Given the description of an element on the screen output the (x, y) to click on. 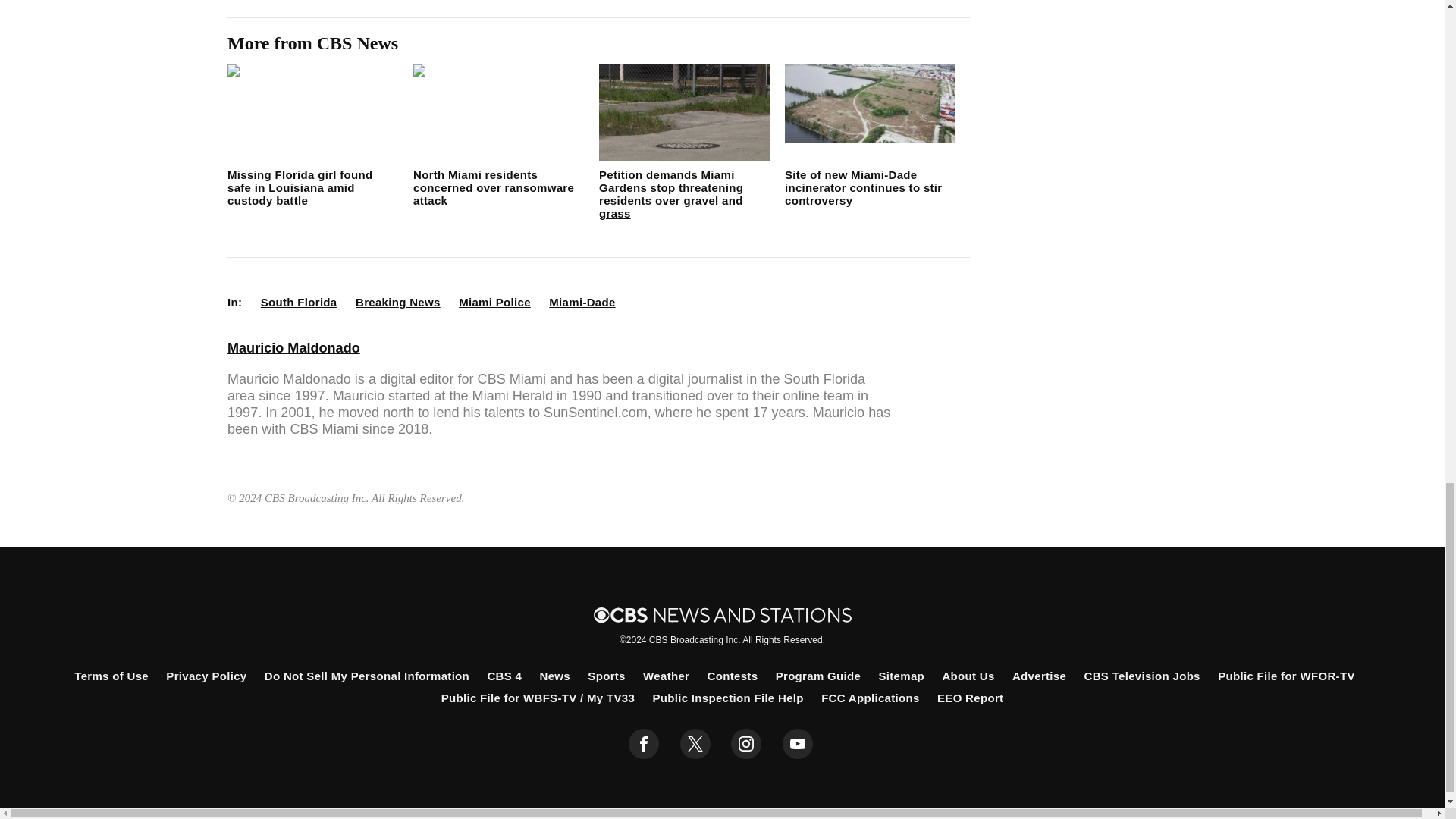
facebook (643, 743)
instagram (745, 743)
youtube (797, 743)
twitter (694, 743)
